Given the description of an element on the screen output the (x, y) to click on. 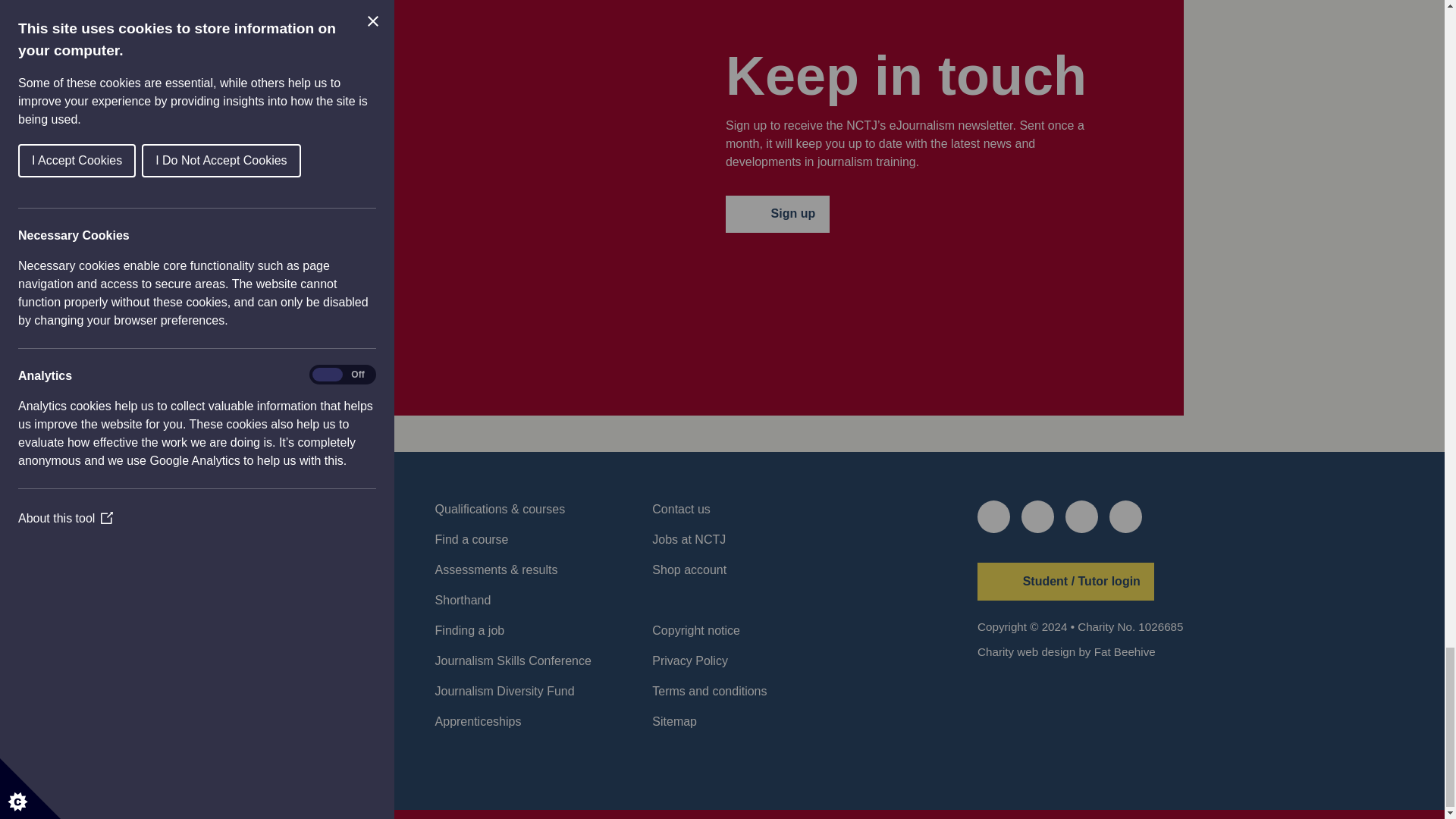
Facebook (1037, 516)
Linkedin (1081, 516)
Instagram (1126, 516)
Twitter (993, 516)
